Given the description of an element on the screen output the (x, y) to click on. 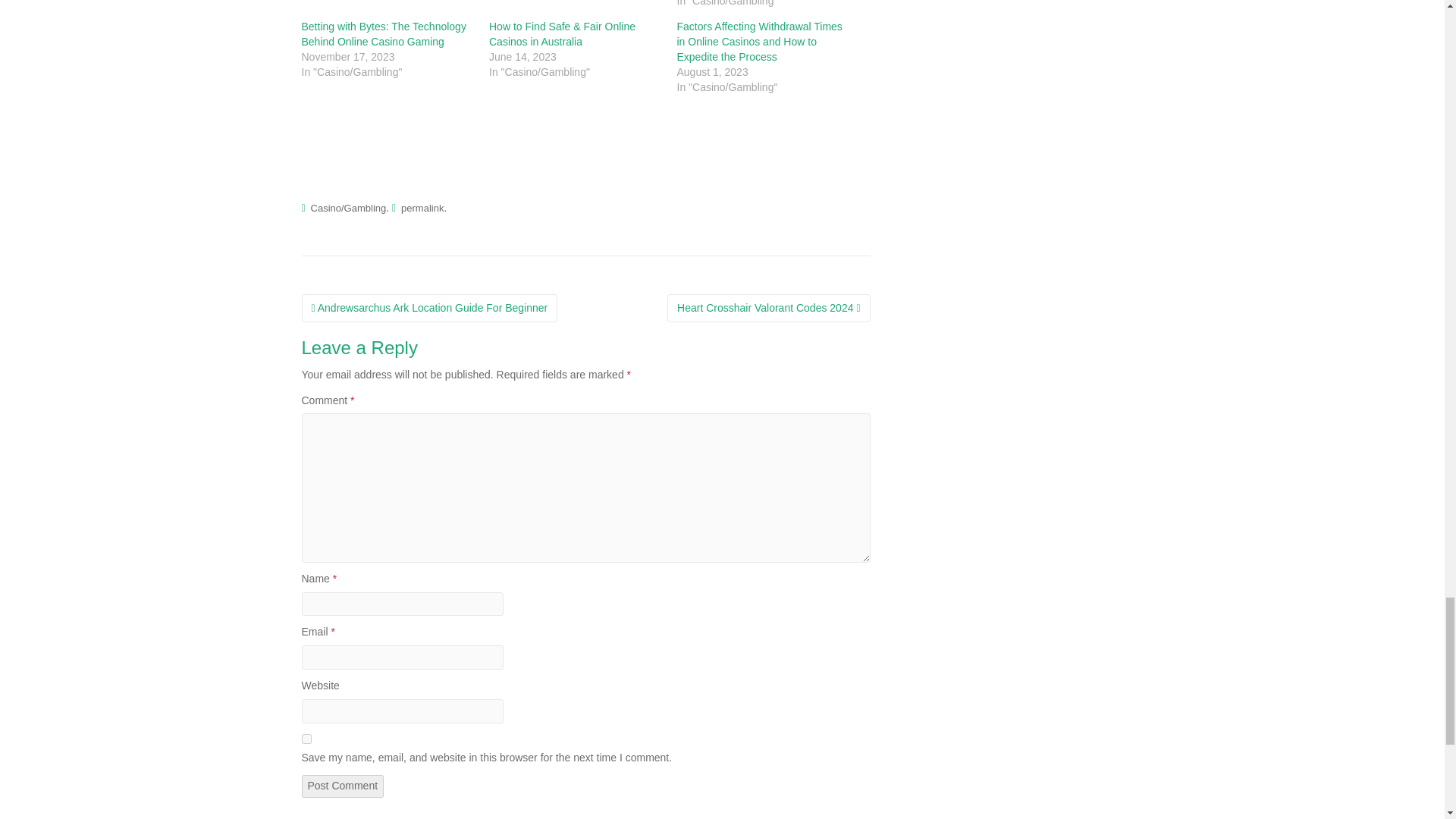
permalink (422, 207)
yes (306, 738)
Post Comment (342, 785)
